Given the description of an element on the screen output the (x, y) to click on. 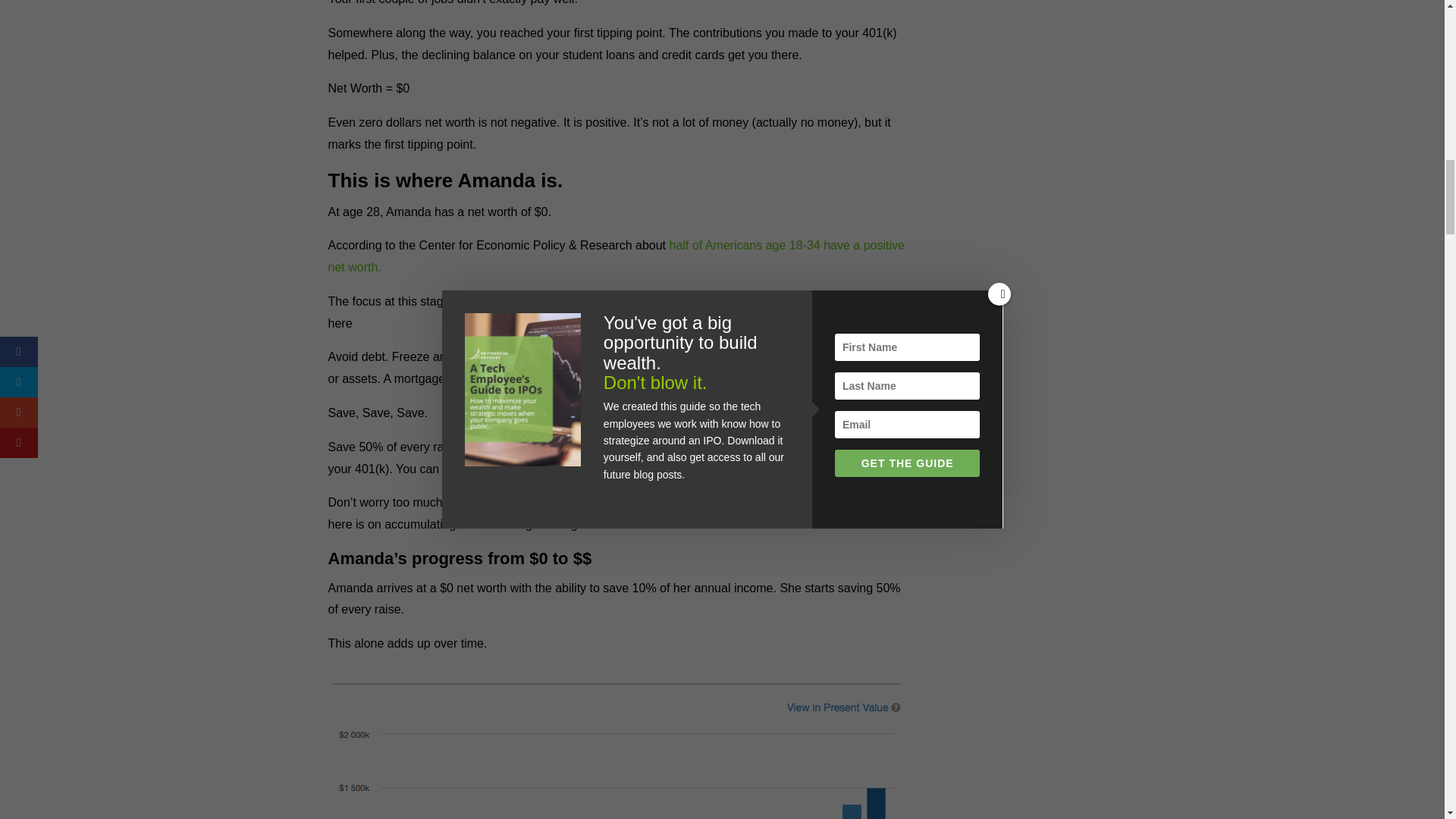
half of Americans age 18-34 have a positive net worth. (615, 256)
